Given the description of an element on the screen output the (x, y) to click on. 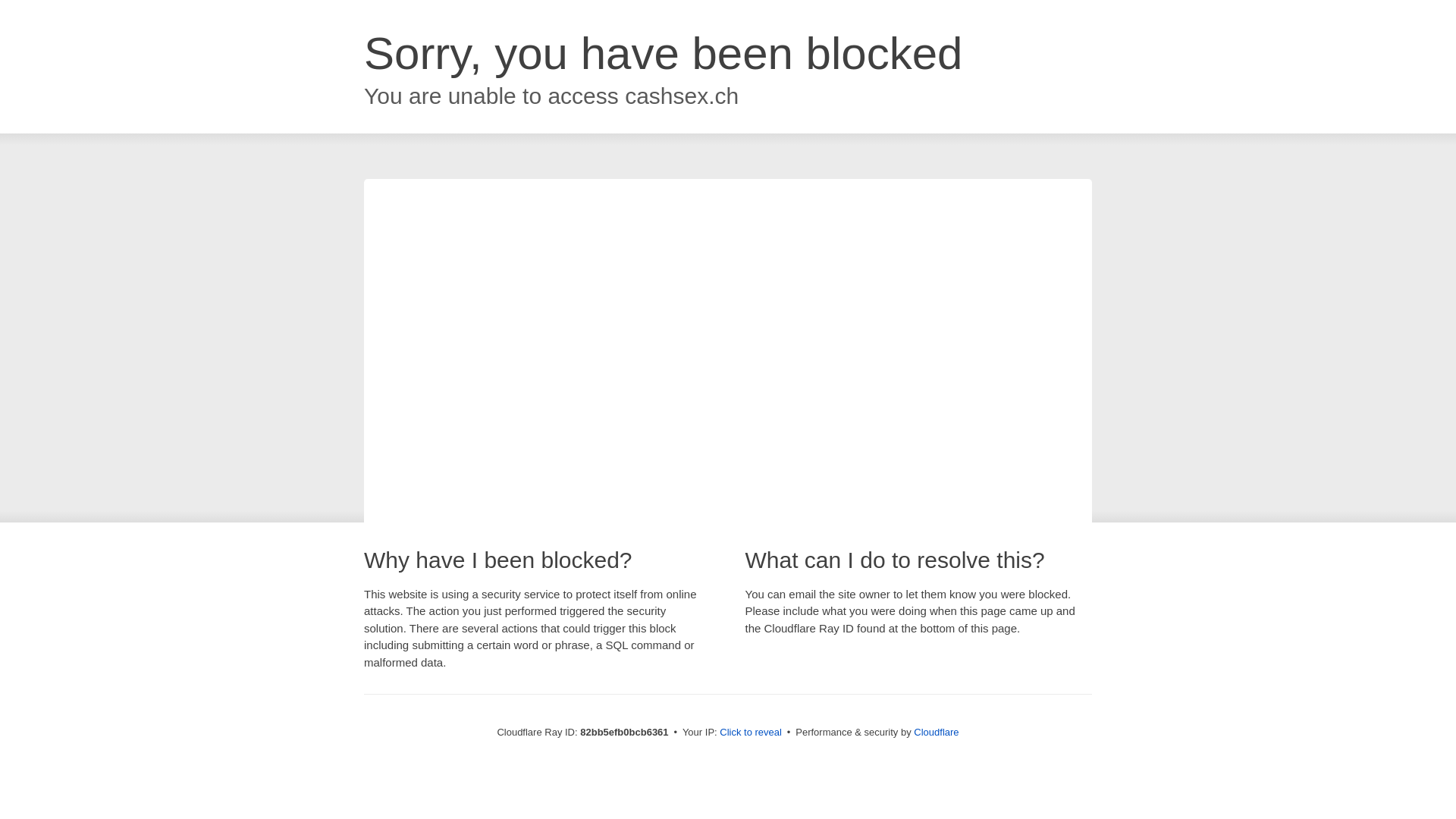
Click to reveal Element type: text (750, 732)
Cloudflare Element type: text (935, 731)
